Given the description of an element on the screen output the (x, y) to click on. 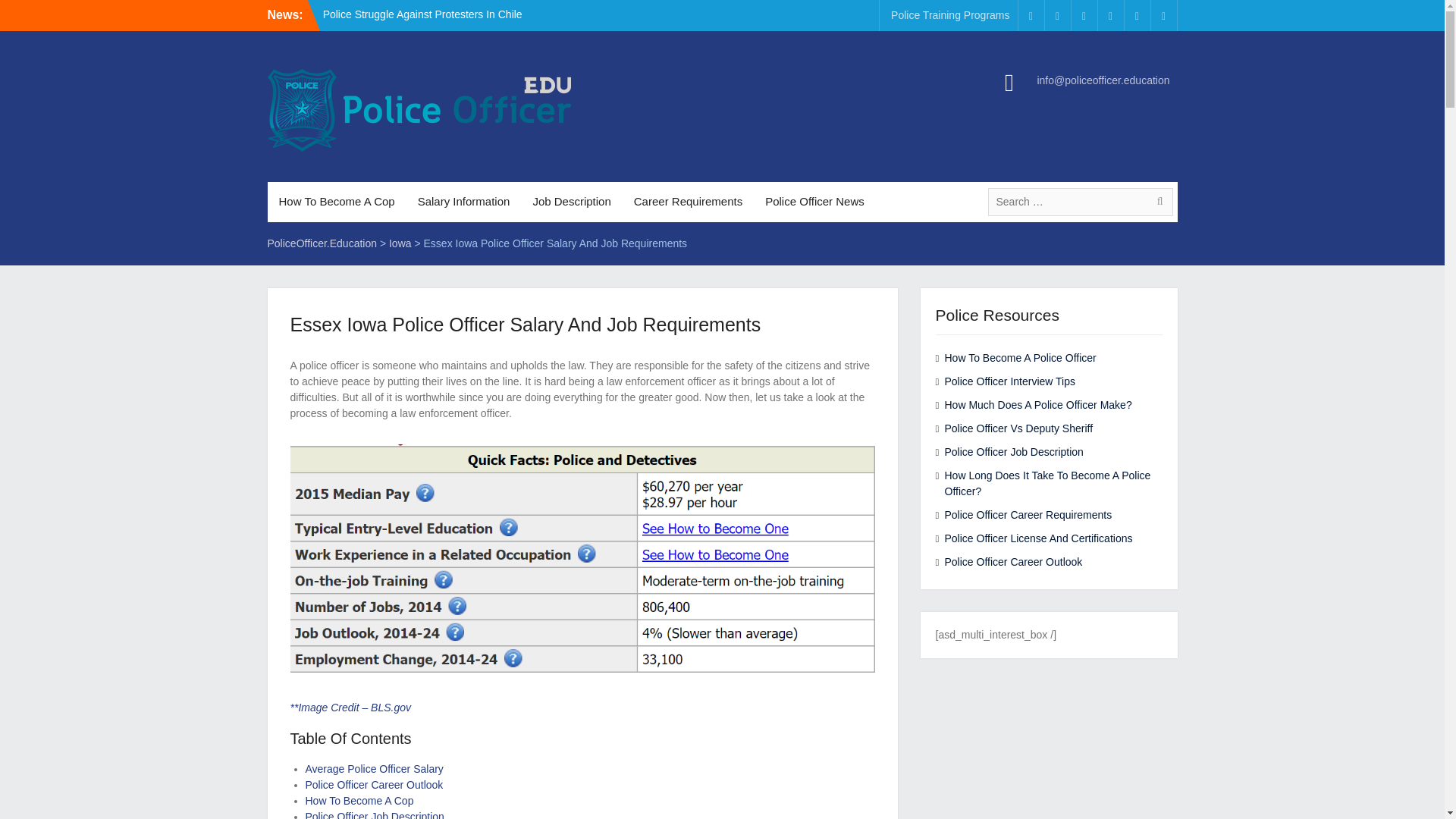
Go to PoliceOfficer.Education. (321, 242)
Police Officer Job Description (374, 814)
How To Become A Cop (358, 800)
How To Become A Cop (336, 201)
Police Officer Career Outlook (373, 784)
Go to the Iowa State Career archives. (400, 242)
Iowa (400, 242)
Career Requirements (688, 201)
Police Training Programs (949, 15)
Salary Information (463, 201)
